Given the description of an element on the screen output the (x, y) to click on. 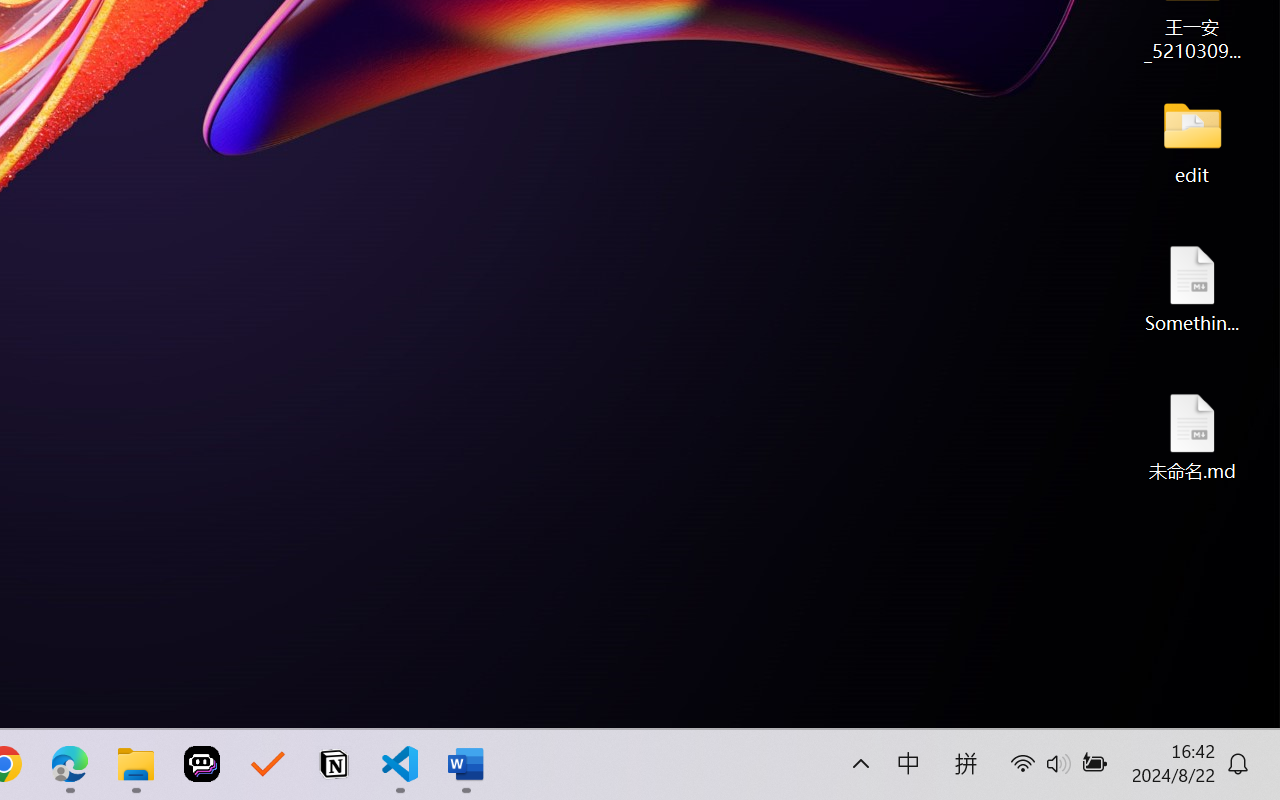
edit (1192, 140)
Something.md (1192, 288)
